Given the description of an element on the screen output the (x, y) to click on. 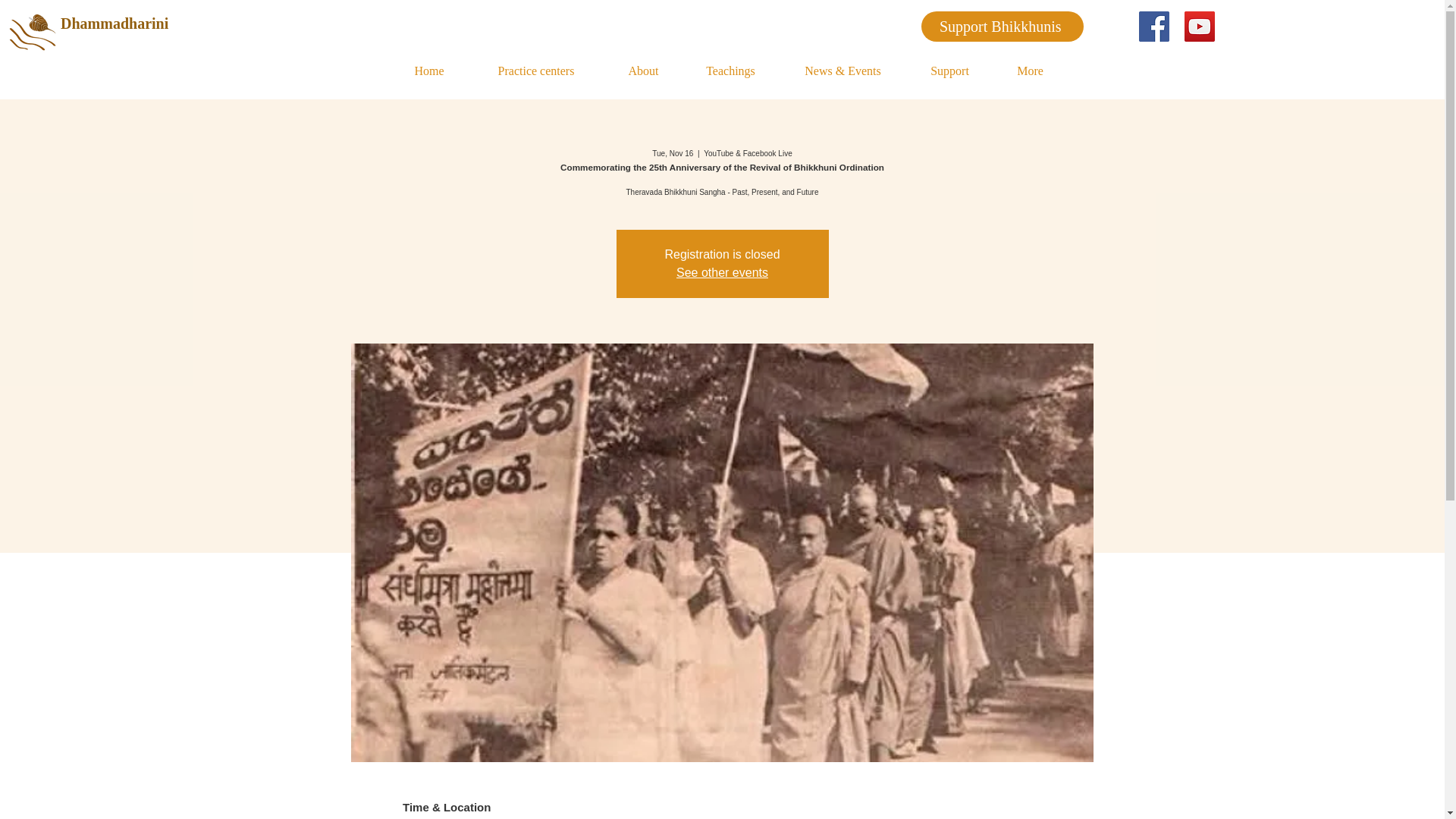
Home (428, 70)
Support Bhikkhunis (1001, 26)
Dhammadharini (132, 23)
Teachings (729, 70)
See other events (722, 272)
Support (948, 70)
About (643, 70)
Practice centers (536, 70)
